Given the description of an element on the screen output the (x, y) to click on. 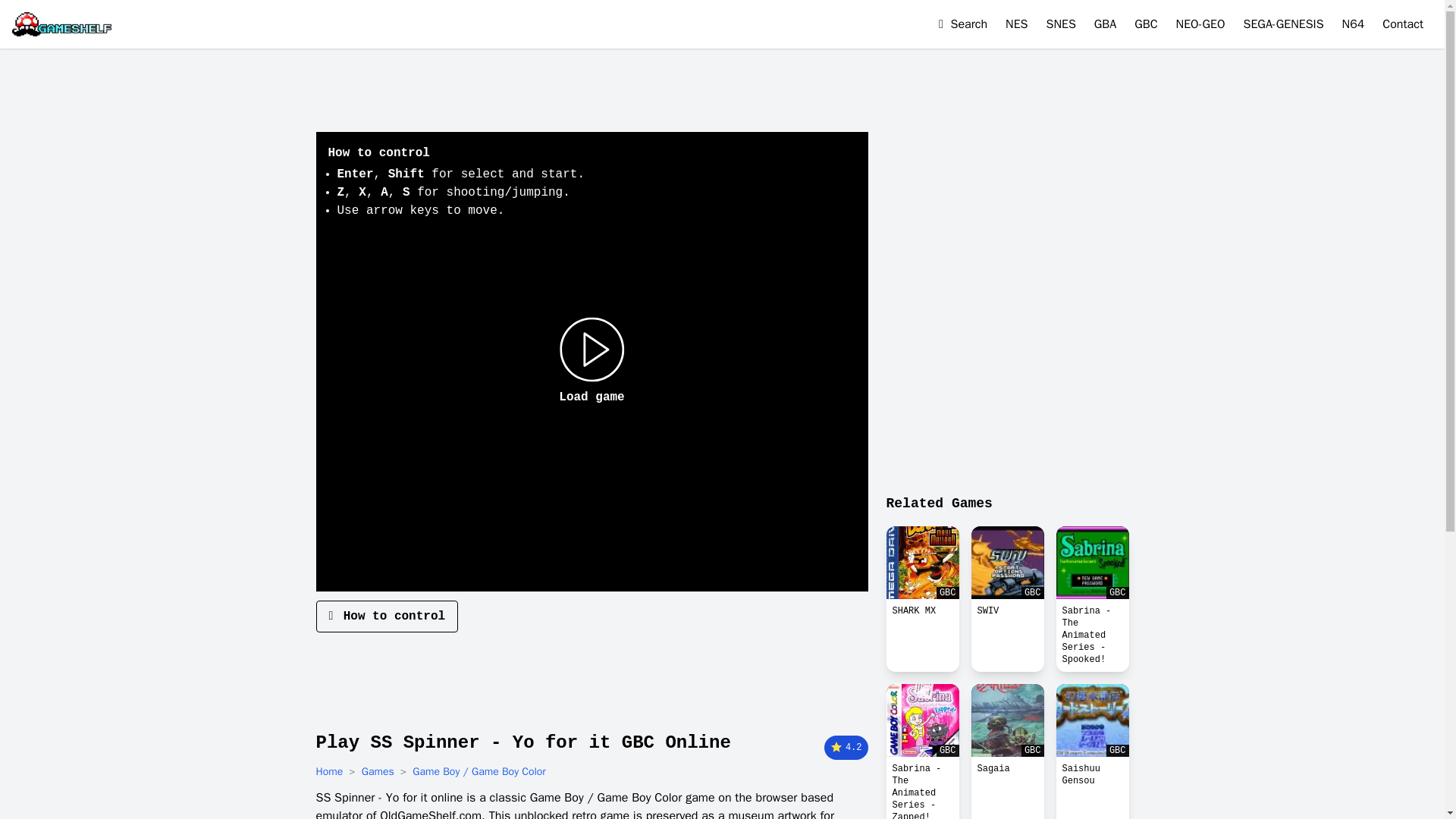
GBC (1007, 562)
Neo Geo (1200, 23)
Games (377, 771)
Sabrina - The Animated Series - Zapped! (921, 787)
Game Boy Advance (1105, 23)
GBC (1091, 562)
Sabrina - The Animated Series - Spooked! (1091, 634)
GBC (1007, 719)
Contact (1402, 24)
SWIV (1007, 562)
GBC (921, 562)
Games (377, 771)
Load game (591, 360)
SEGA-GENESIS (1283, 23)
Homepage (61, 24)
